Given the description of an element on the screen output the (x, y) to click on. 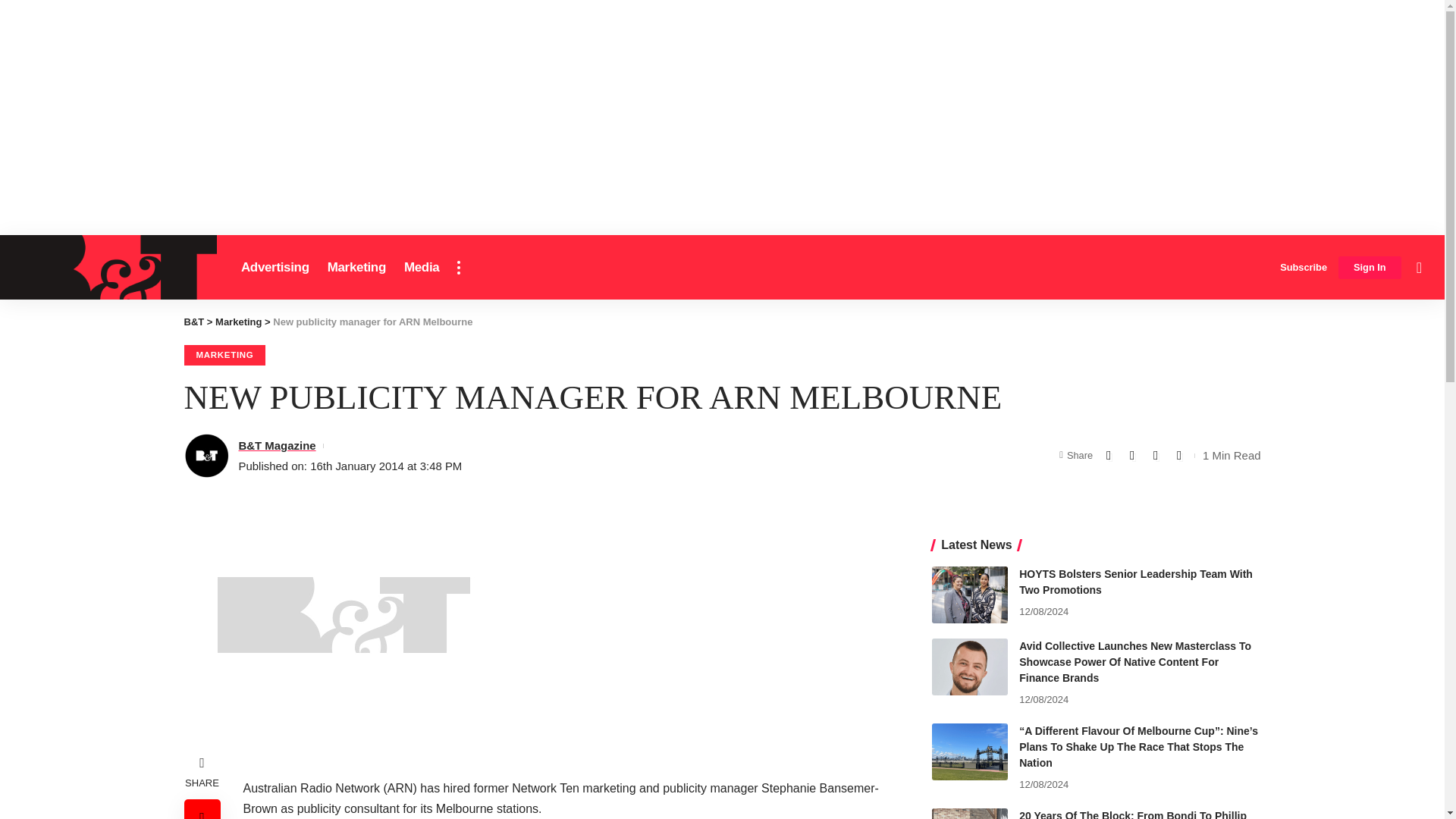
Sign In (1369, 267)
Go to the Marketing Category archives. (238, 321)
Advertising (274, 267)
HOYTS Bolsters Senior Leadership Team With Two Promotions (969, 594)
Marketing (356, 267)
